Given the description of an element on the screen output the (x, y) to click on. 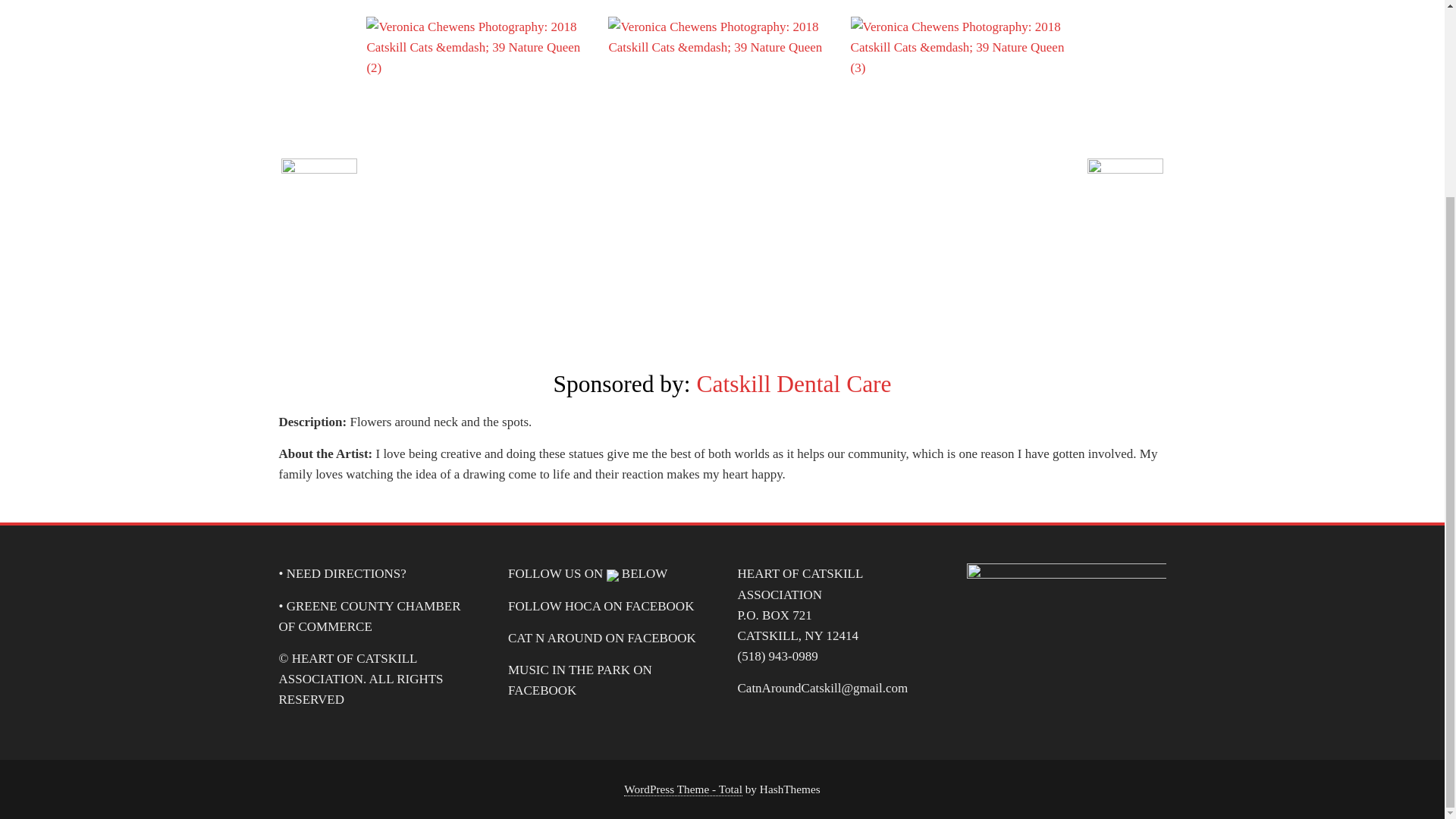
FOLLOW HOCA ON FACEBOOK (601, 605)
MUSIC IN THE PARK ON FACEBOOK (580, 679)
Catskill Dental Care (793, 384)
CAT N AROUND ON FACEBOOK (601, 637)
WordPress Theme - Total (683, 789)
